Given the description of an element on the screen output the (x, y) to click on. 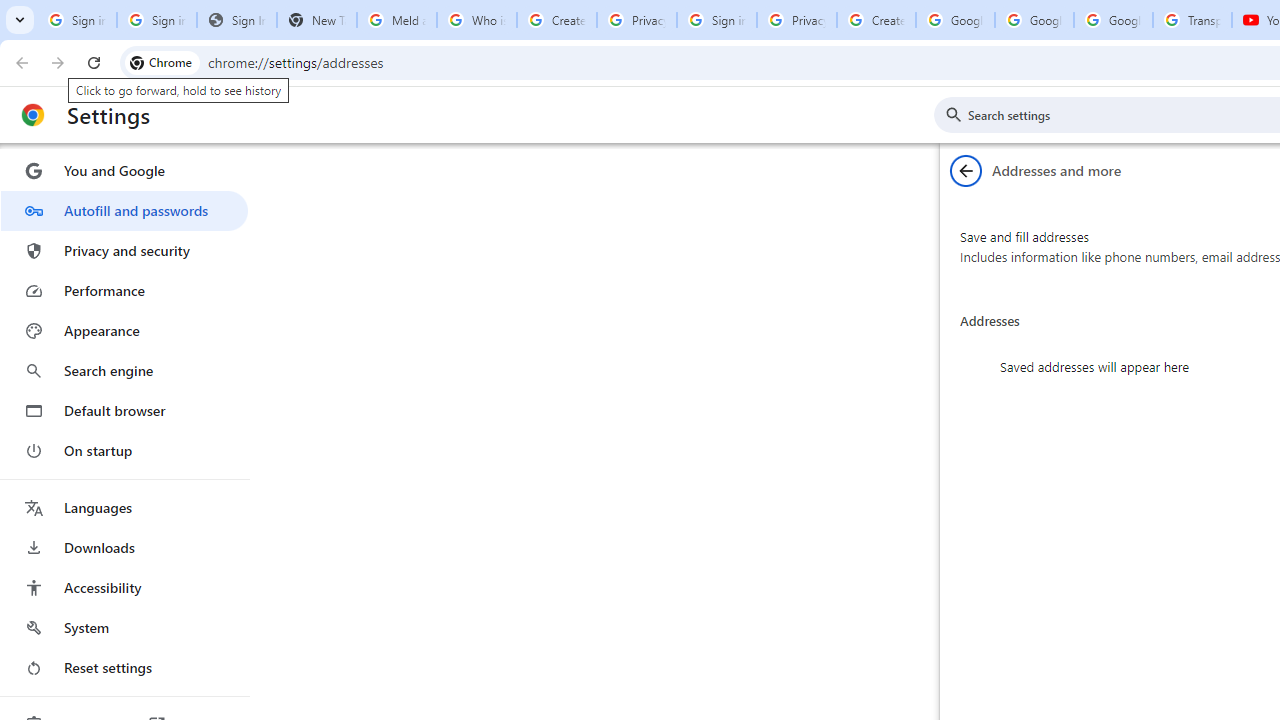
Downloads (124, 547)
Privacy and security (124, 250)
Autofill and passwords (124, 210)
Sign in - Google Accounts (76, 20)
Who is my administrator? - Google Account Help (476, 20)
Appearance (124, 331)
Sign in - Google Accounts (156, 20)
Languages (124, 507)
On startup (124, 450)
You and Google (124, 170)
Create your Google Account (556, 20)
Sign in - Google Accounts (716, 20)
